Given the description of an element on the screen output the (x, y) to click on. 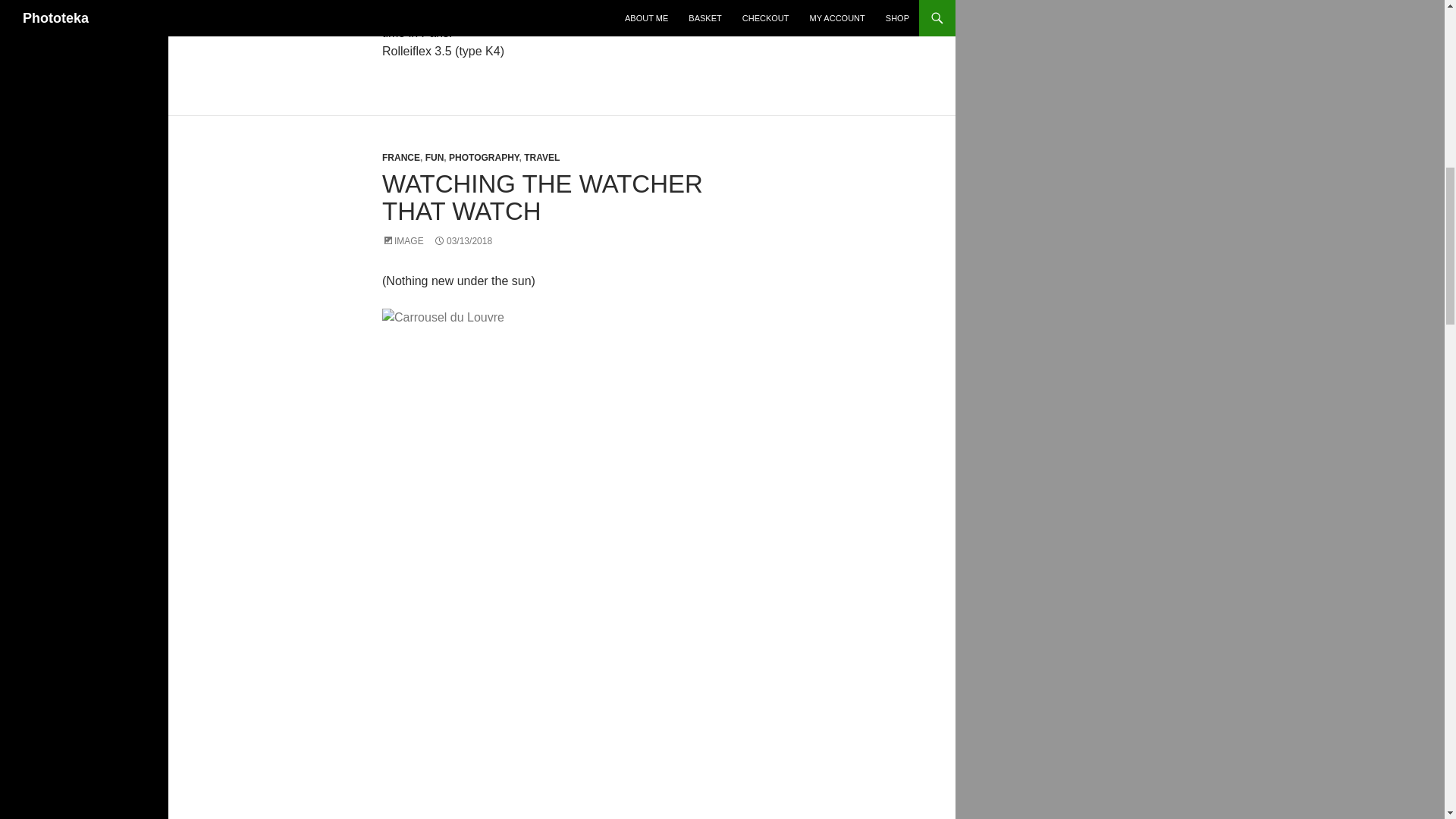
PHOTOGRAPHY (483, 157)
FRANCE (400, 157)
IMAGE (402, 240)
FUN (434, 157)
TRAVEL (541, 157)
WATCHING THE WATCHER THAT WATCH (542, 197)
